Given the description of an element on the screen output the (x, y) to click on. 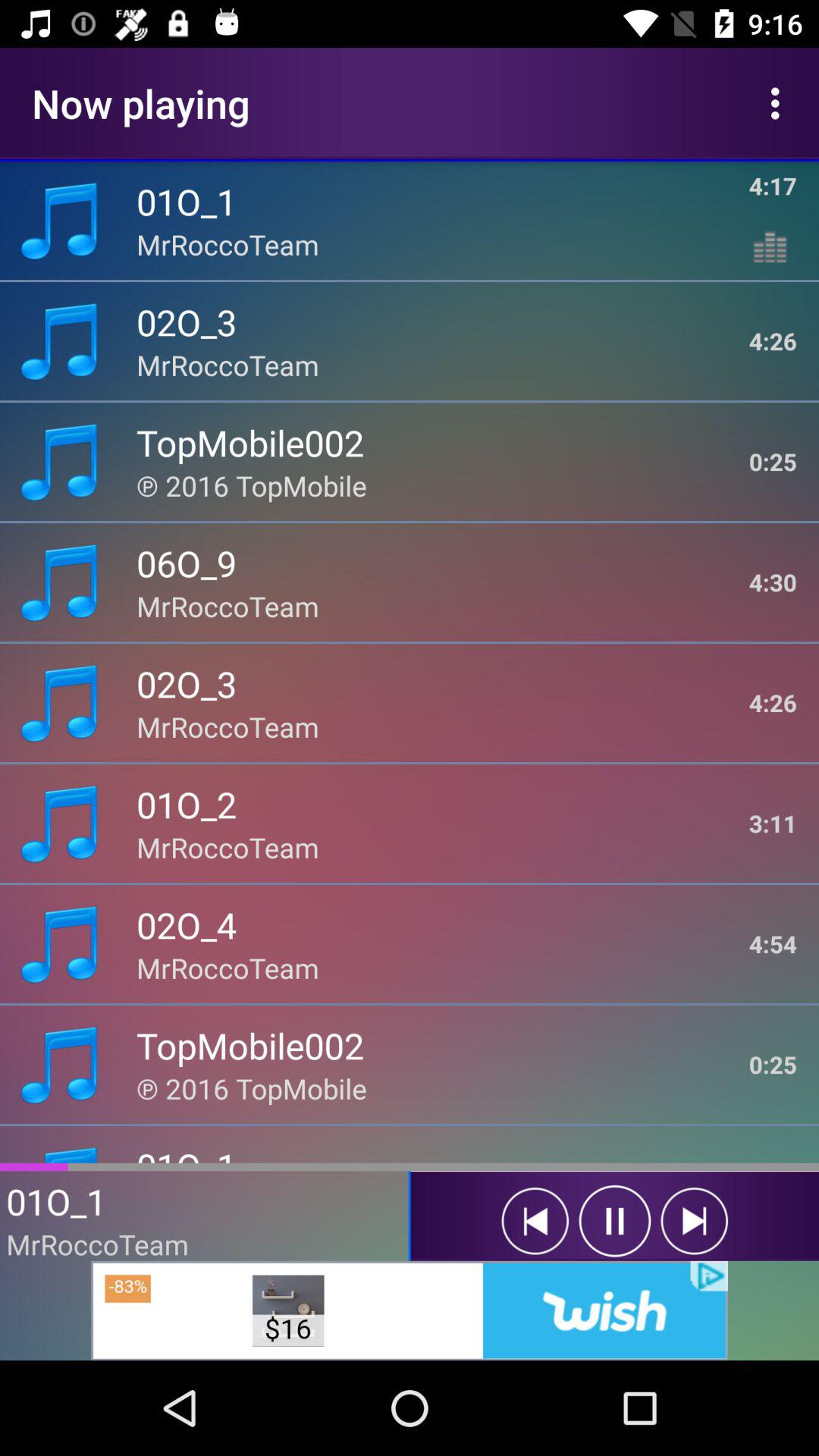
previous track (535, 1220)
